Given the description of an element on the screen output the (x, y) to click on. 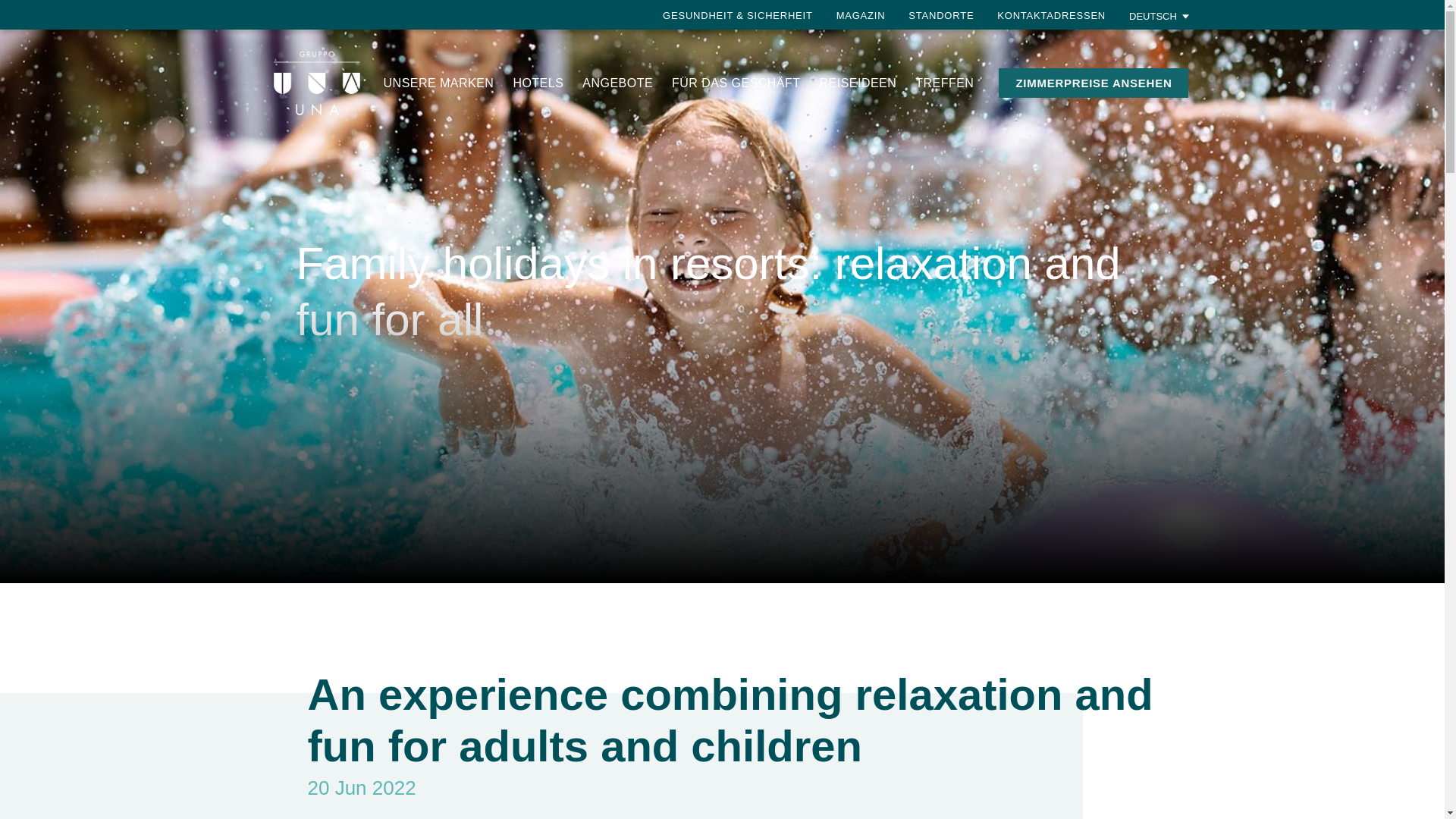
STANDORTE (941, 15)
HOTELS (537, 82)
TREFFEN (944, 82)
KONTAKTADRESSEN (1051, 15)
ZIMMERPREISE ANSEHEN (1093, 82)
UNSERE MARKEN (439, 82)
DEUTSCH (1158, 15)
ANGEBOTE (617, 82)
REISEIDEEN (857, 82)
MAGAZIN (860, 15)
